Given the description of an element on the screen output the (x, y) to click on. 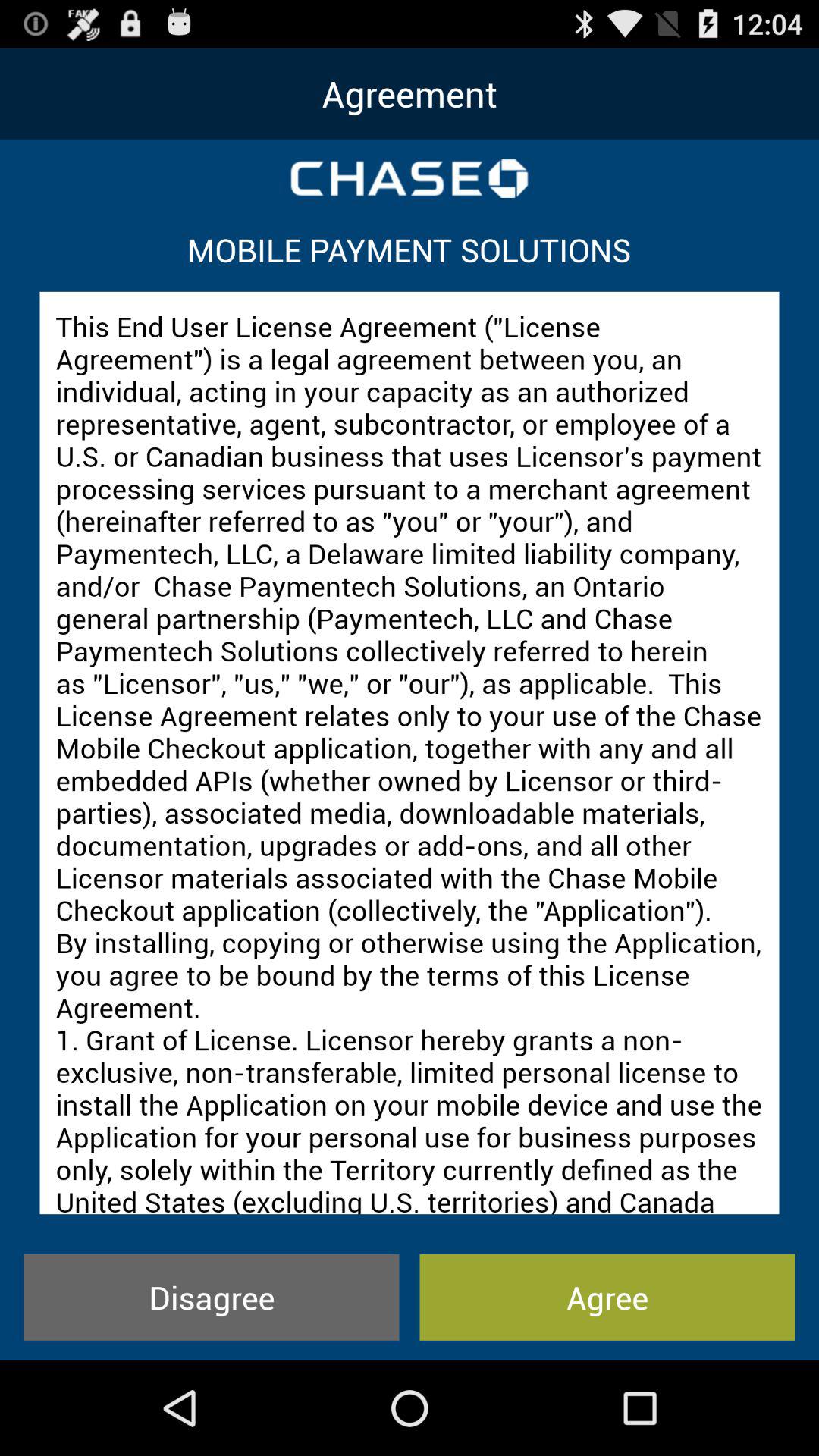
press the icon next to the disagree (607, 1297)
